Given the description of an element on the screen output the (x, y) to click on. 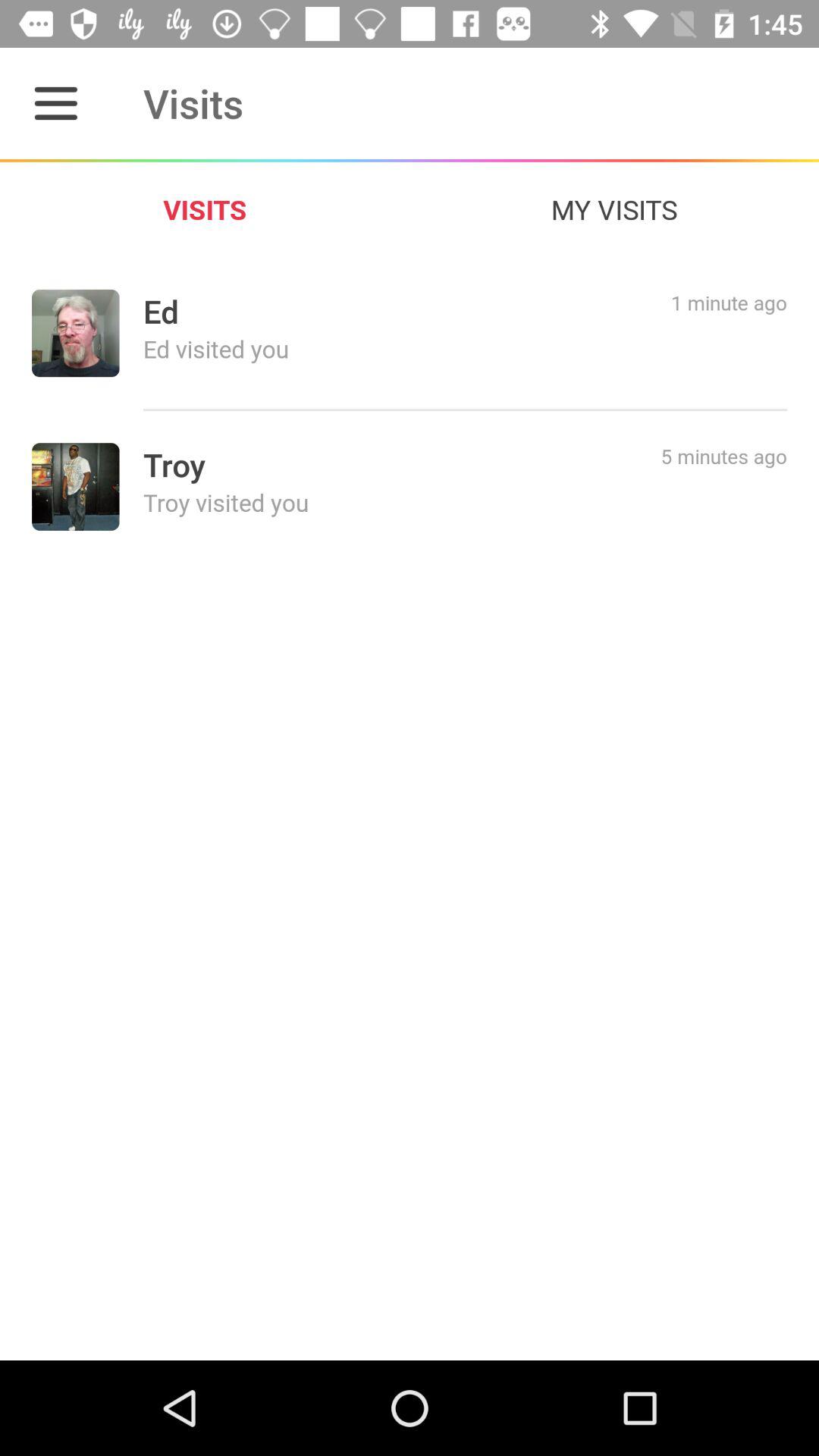
choose the item above the ed icon (614, 209)
